Given the description of an element on the screen output the (x, y) to click on. 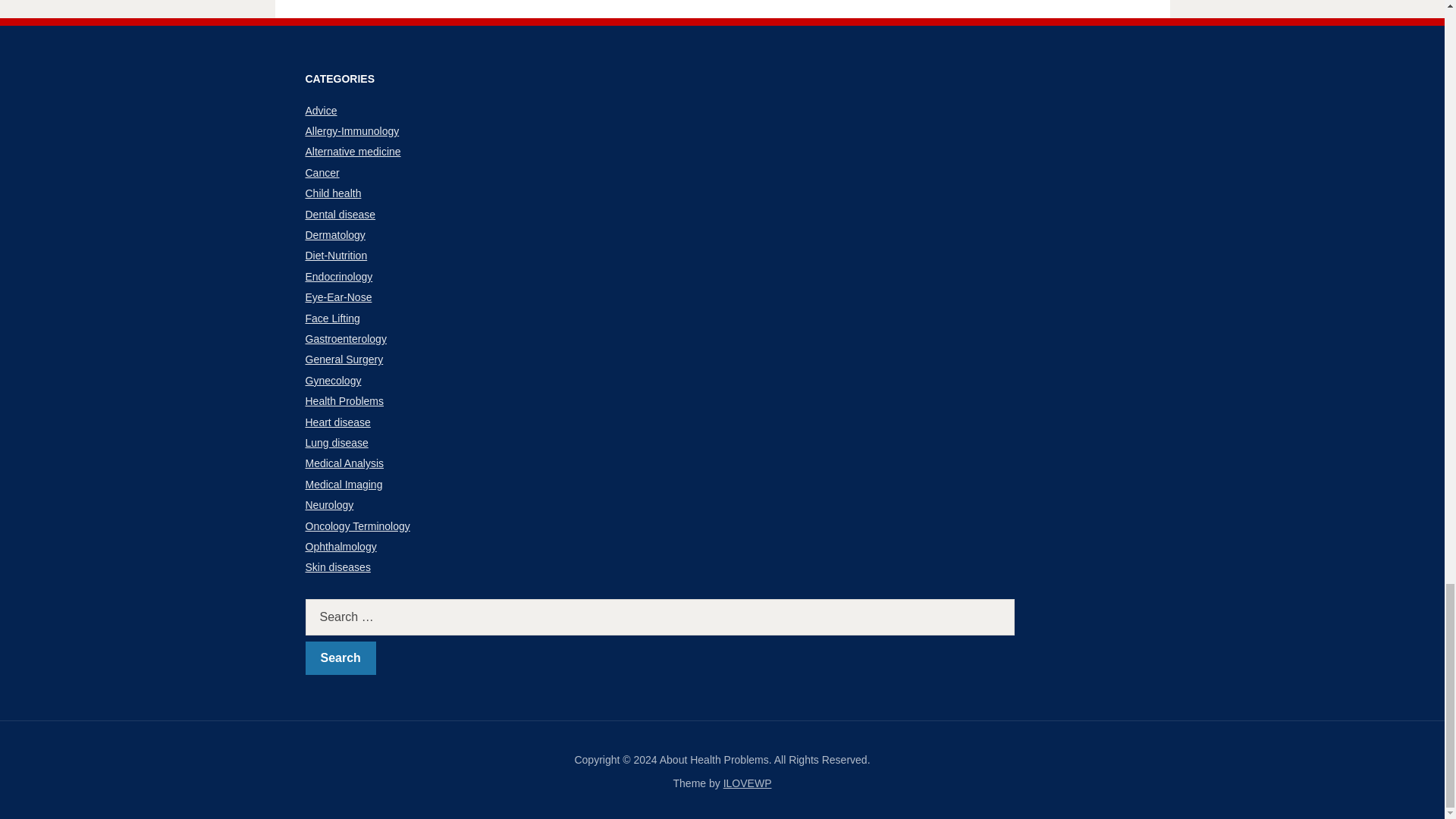
Search (339, 658)
Search (339, 658)
